Given the description of an element on the screen output the (x, y) to click on. 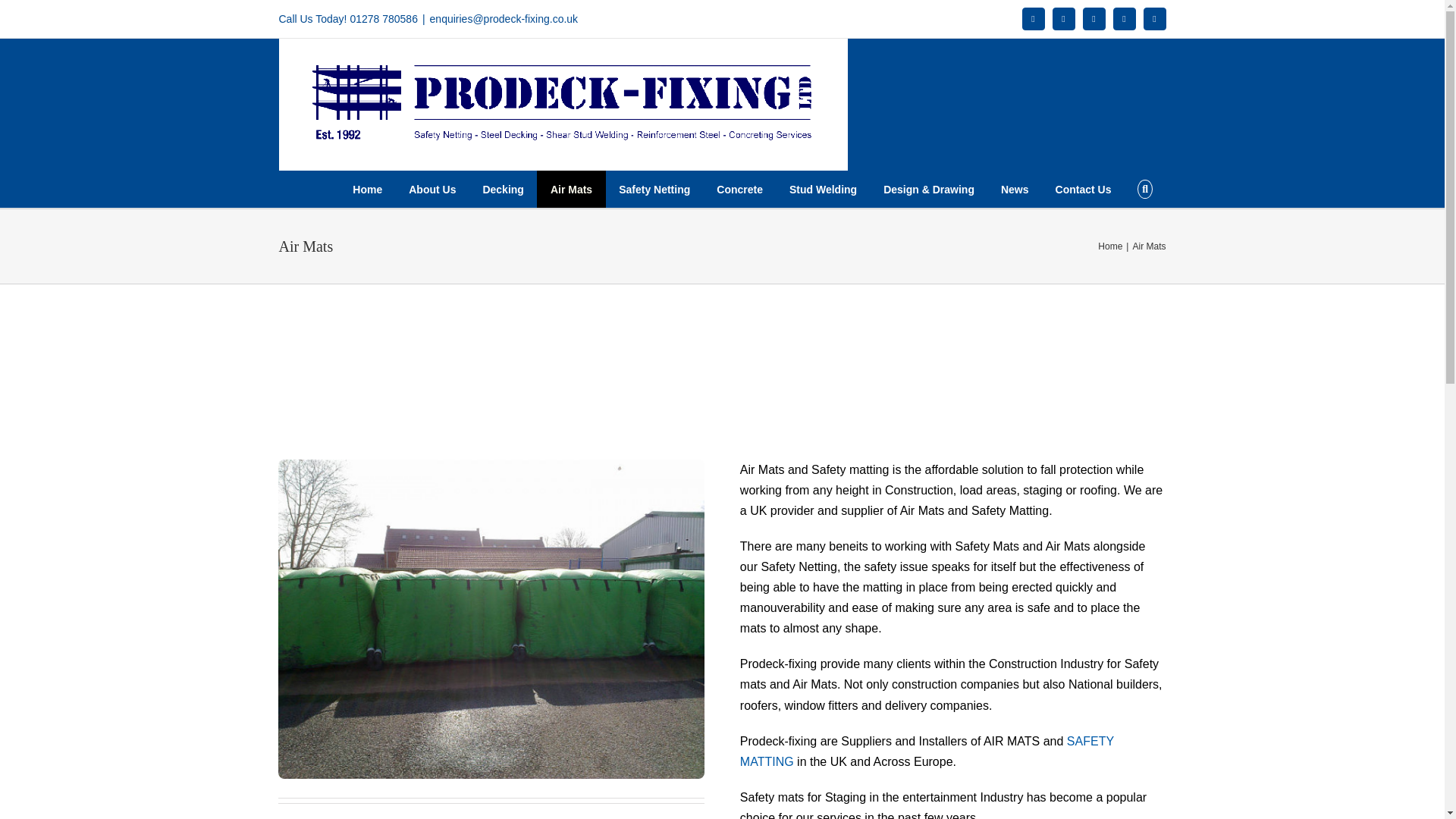
Decking (502, 189)
YouTube (1094, 18)
Facebook (1033, 18)
Facebook (1033, 18)
Rss (1124, 18)
Rss (1124, 18)
Email (1154, 18)
Home (367, 189)
YouTube (1094, 18)
Safety Netting (654, 189)
News (1014, 189)
Concrete (739, 189)
Twitter (1063, 18)
Search (1145, 189)
